Given the description of an element on the screen output the (x, y) to click on. 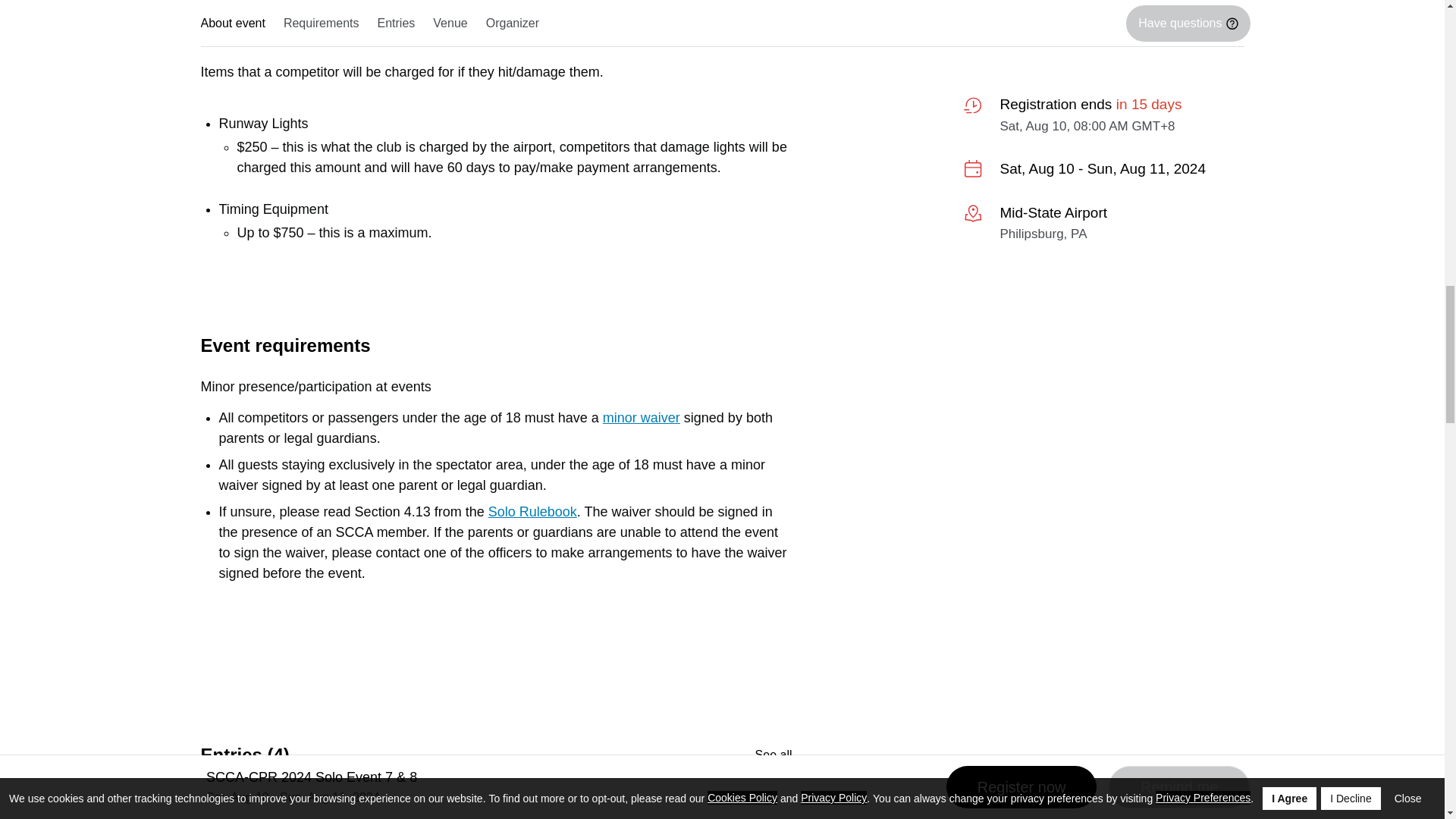
minor waive (638, 417)
Solo Rulebook (531, 511)
